Given the description of an element on the screen output the (x, y) to click on. 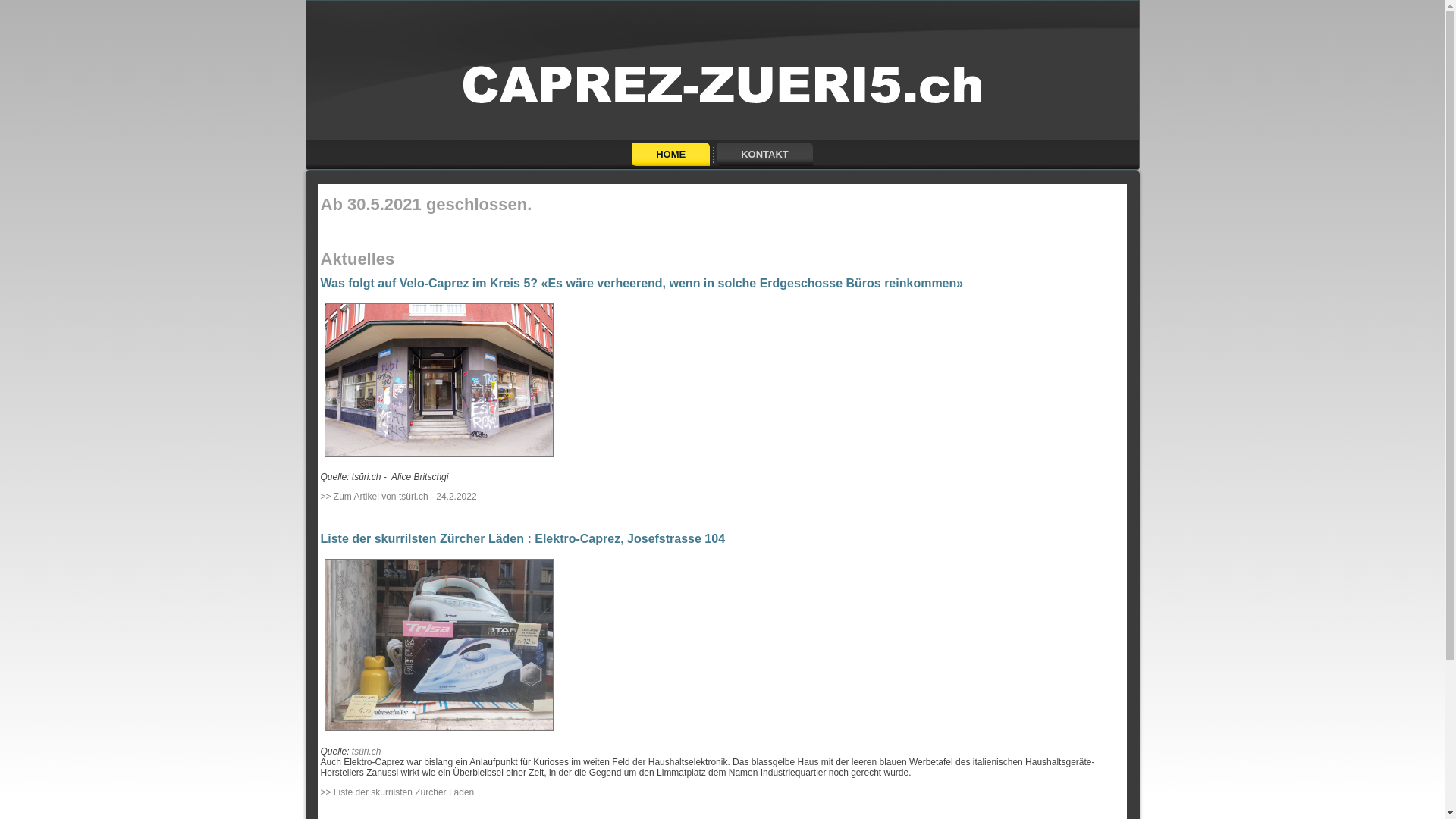
HOME Element type: text (670, 154)
KONTAKT Element type: text (764, 154)
